Given the description of an element on the screen output the (x, y) to click on. 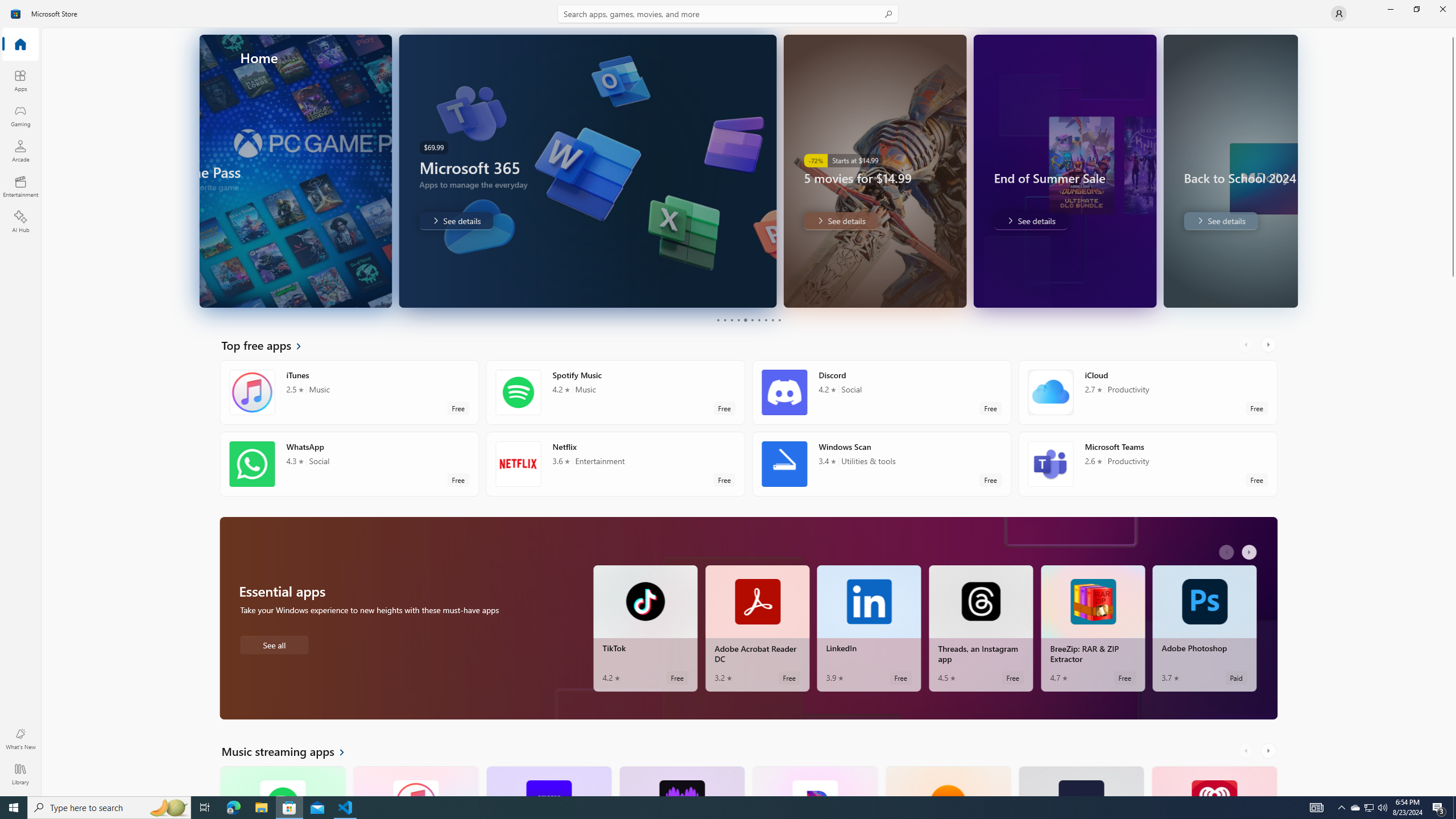
Library (20, 773)
Class: Image (15, 13)
Arcade (20, 150)
Vertical Large Increase (1452, 533)
Vertical Small Decrease (1452, 31)
Page 1 (717, 319)
Close Microsoft Store (1442, 9)
Entertainment (20, 185)
Pager (748, 319)
